Given the description of an element on the screen output the (x, y) to click on. 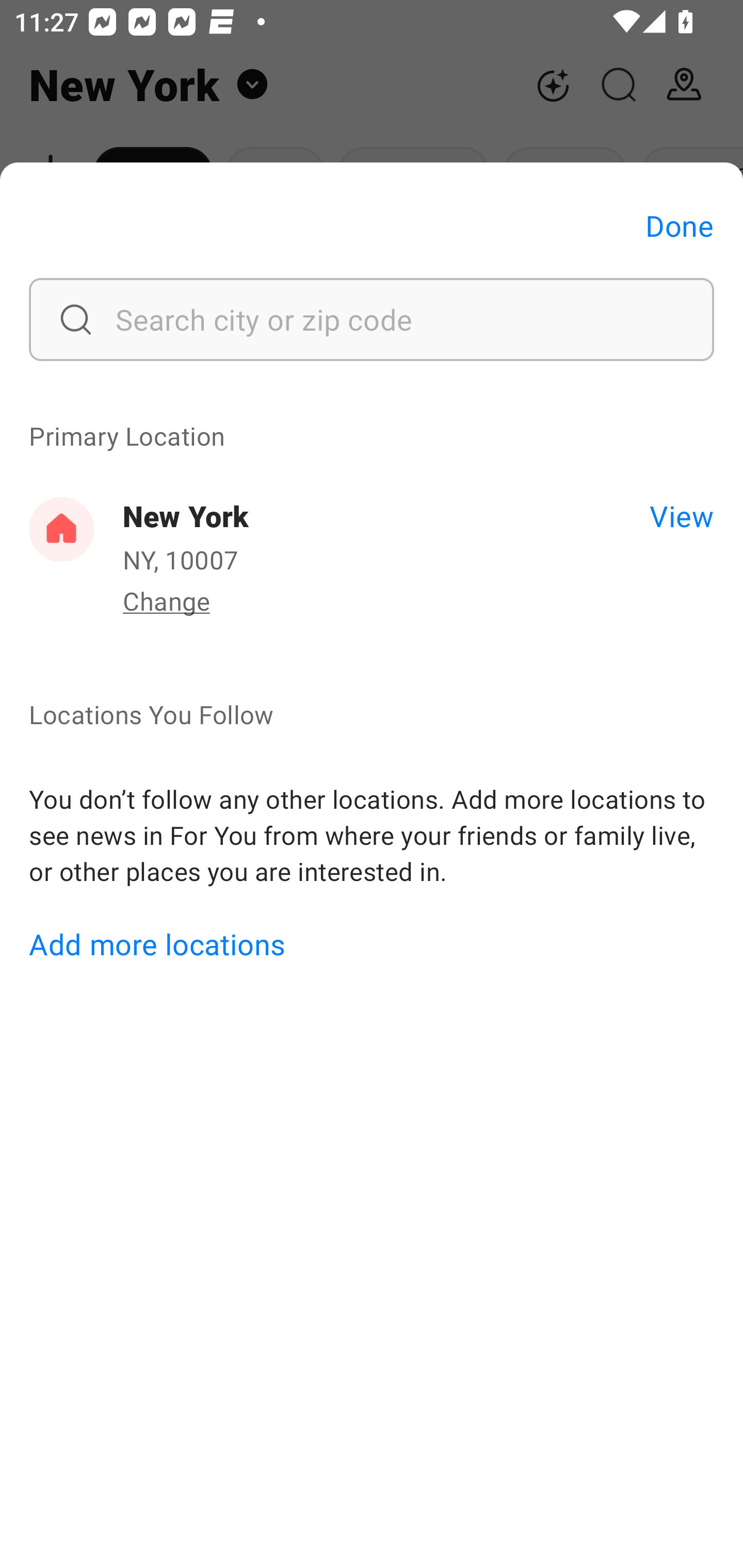
Done (679, 225)
Search city or zip code (371, 318)
View (681, 514)
Change (166, 600)
